Given the description of an element on the screen output the (x, y) to click on. 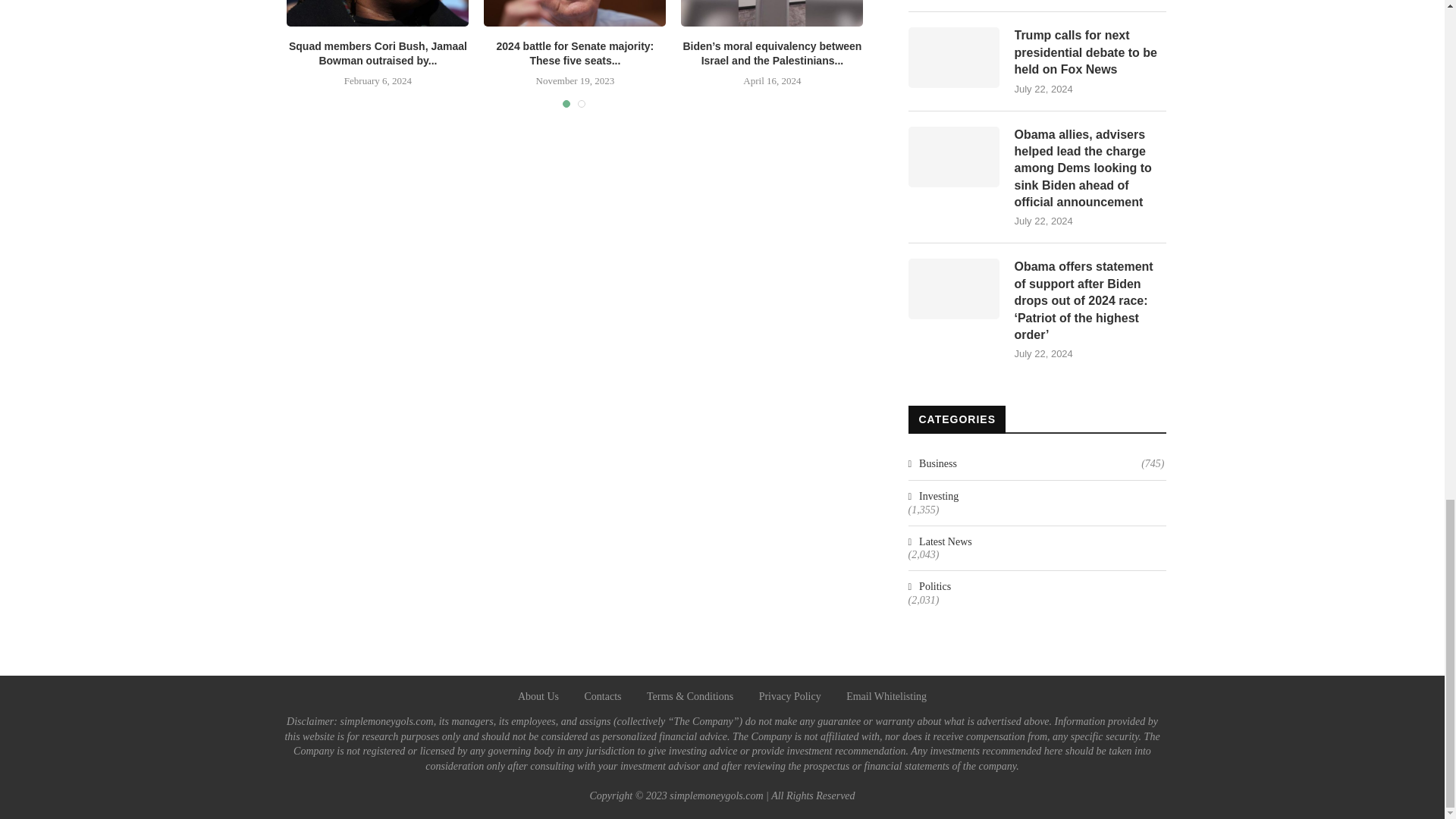
Squad members Cori Bush, Jamaal Bowman outraised by... (377, 53)
2024 battle for Senate majority: These five seats... (574, 53)
